Given the description of an element on the screen output the (x, y) to click on. 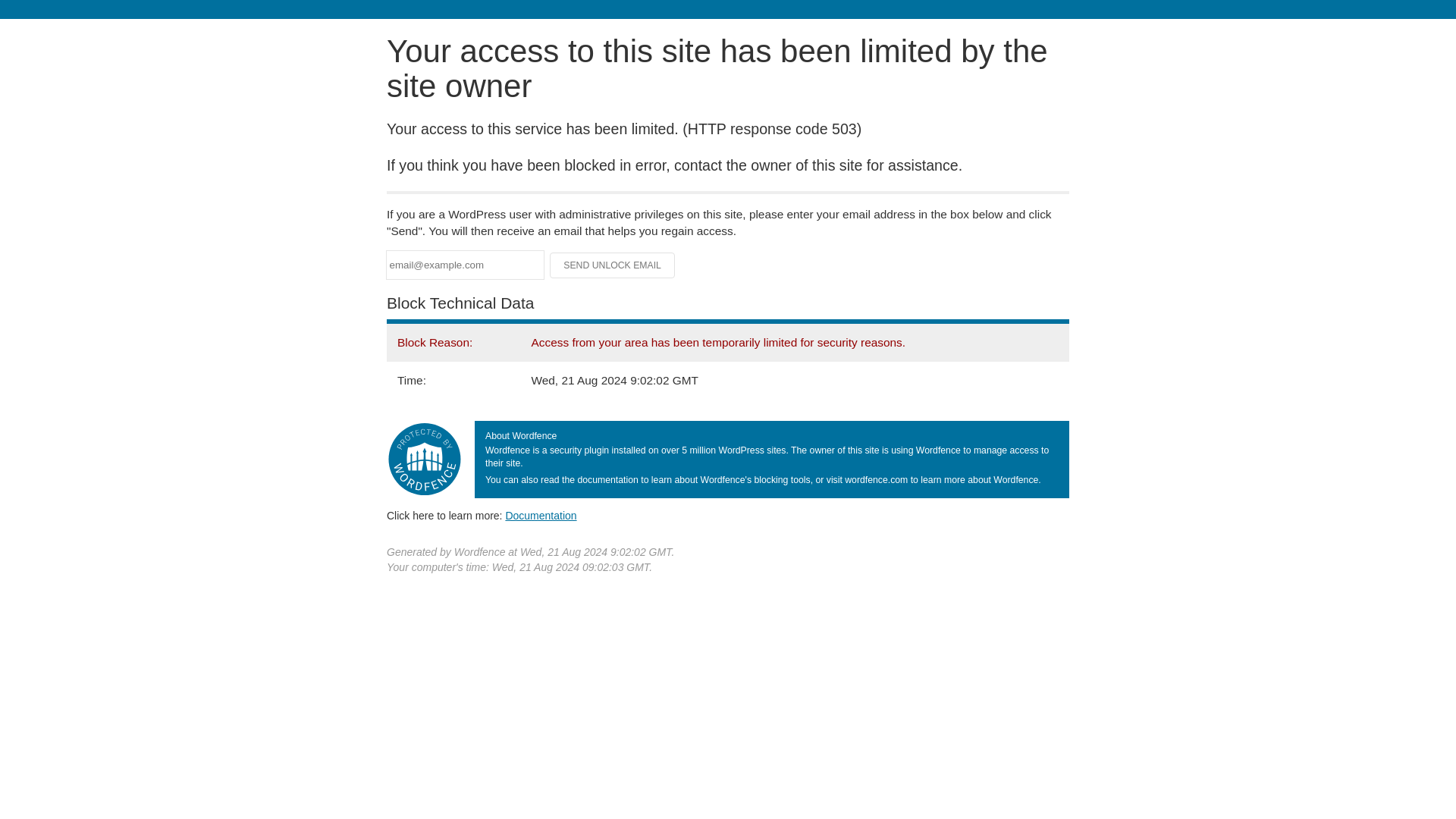
Documentation (540, 515)
Send Unlock Email (612, 265)
Send Unlock Email (612, 265)
